Given the description of an element on the screen output the (x, y) to click on. 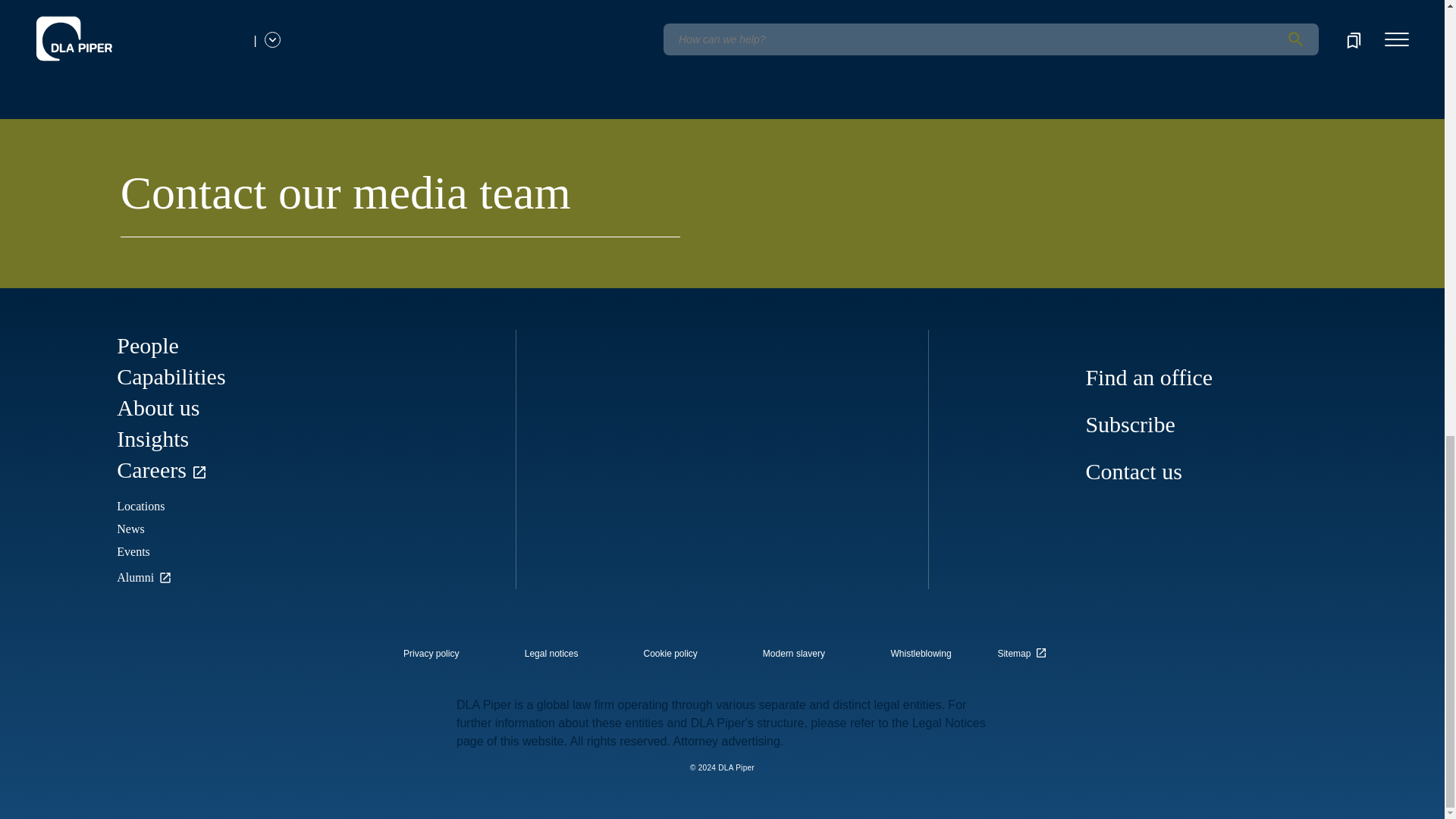
internal (793, 653)
Corporate (78, 62)
internal (549, 653)
external (1024, 649)
internal (920, 653)
internal (430, 653)
internal (670, 653)
Contact our media team (400, 201)
